Given the description of an element on the screen output the (x, y) to click on. 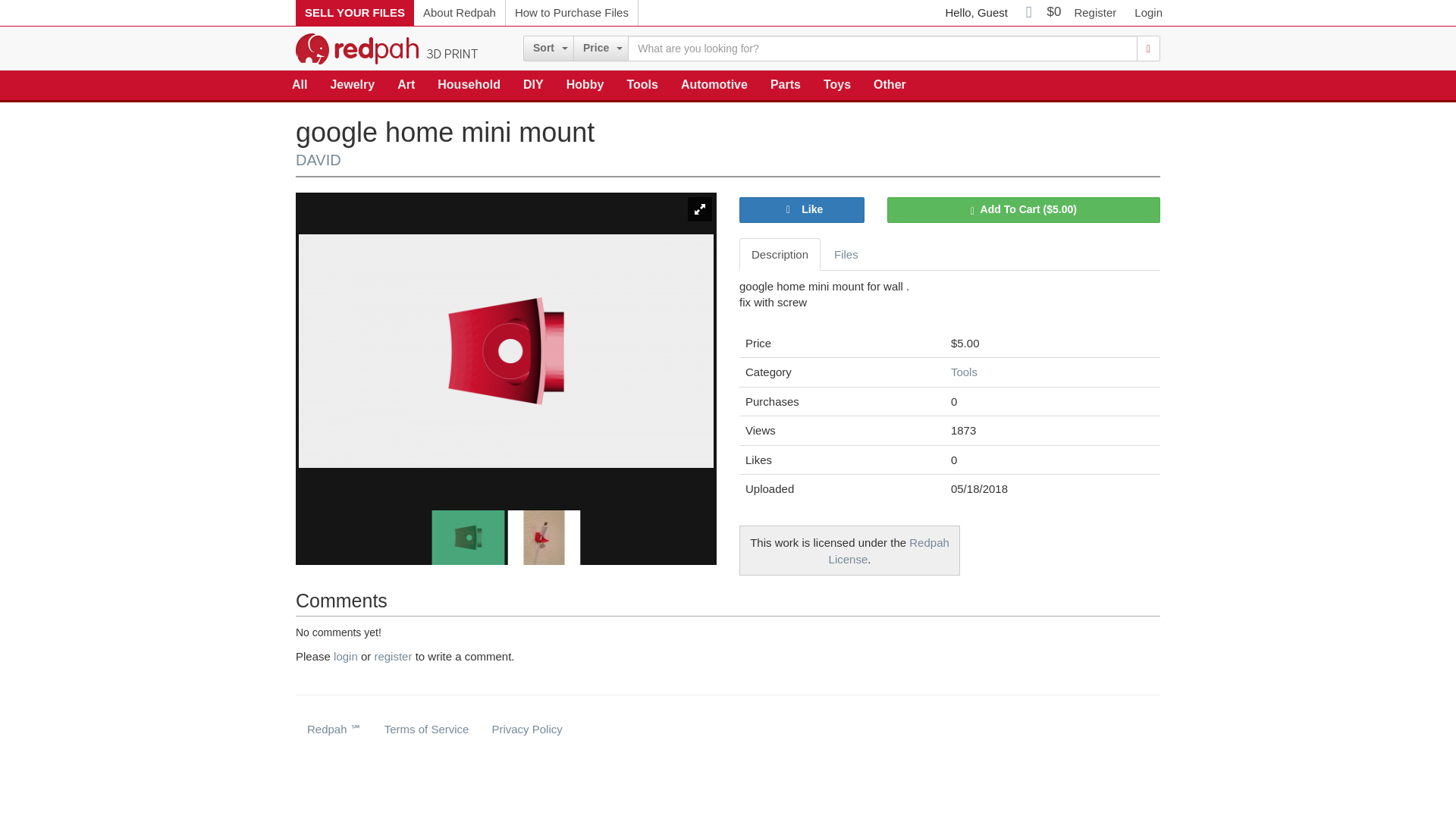
Art (405, 85)
Sort (547, 48)
Toys (836, 85)
How to Purchase Files (572, 12)
Hobby (584, 85)
Other (889, 85)
Price (600, 48)
Login (1148, 12)
Tools (641, 85)
Parts (785, 85)
Household (469, 85)
Register (1094, 12)
SELL YOUR FILES (354, 12)
DIY (533, 85)
Jewelry (351, 85)
